Given the description of an element on the screen output the (x, y) to click on. 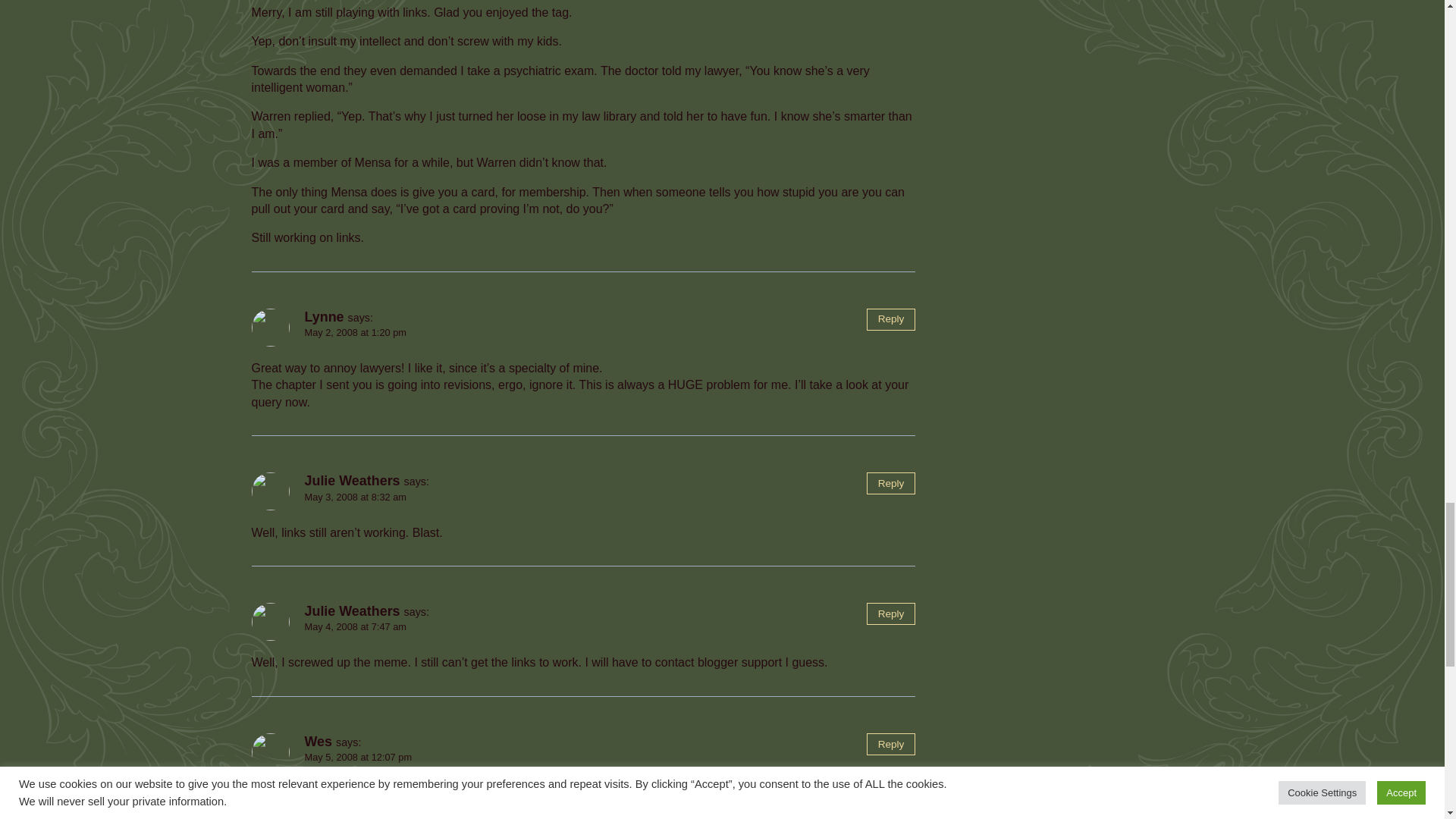
Lynne (323, 316)
May 4, 2008 at 7:47 am (355, 626)
May 2, 2008 at 1:20 pm (355, 332)
May 3, 2008 at 8:32 am (355, 496)
Julie Weathers (352, 611)
Reply (890, 319)
Reply (890, 613)
Julie Weathers (352, 480)
Reply (890, 483)
